Given the description of an element on the screen output the (x, y) to click on. 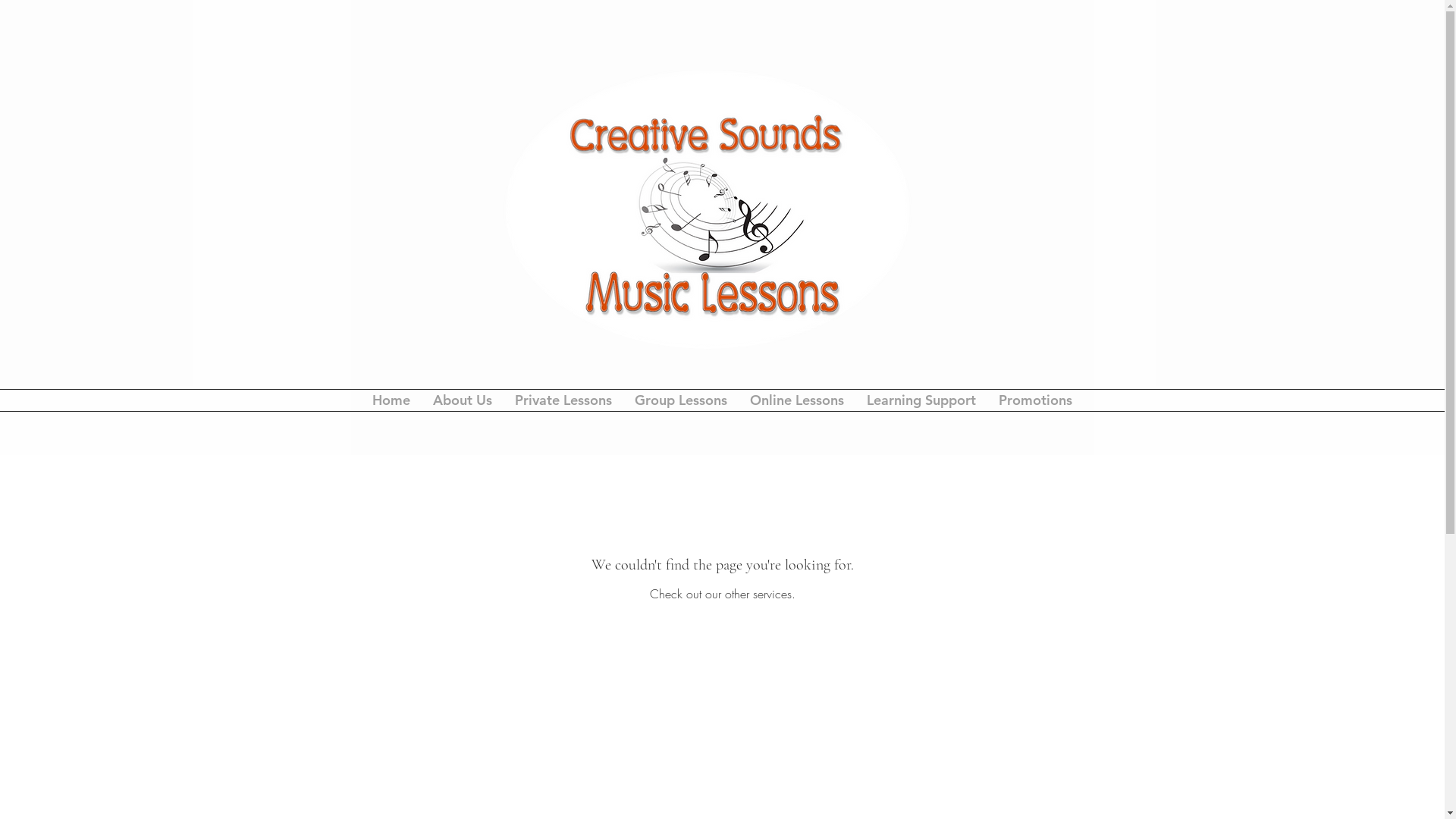
Online Lessons Element type: text (796, 400)
Promotions Element type: text (1035, 400)
Private Lessons Element type: text (563, 400)
Learning Support Element type: text (921, 400)
Home Element type: text (390, 400)
About Us Element type: text (462, 400)
Group Lessons Element type: text (680, 400)
